Given the description of an element on the screen output the (x, y) to click on. 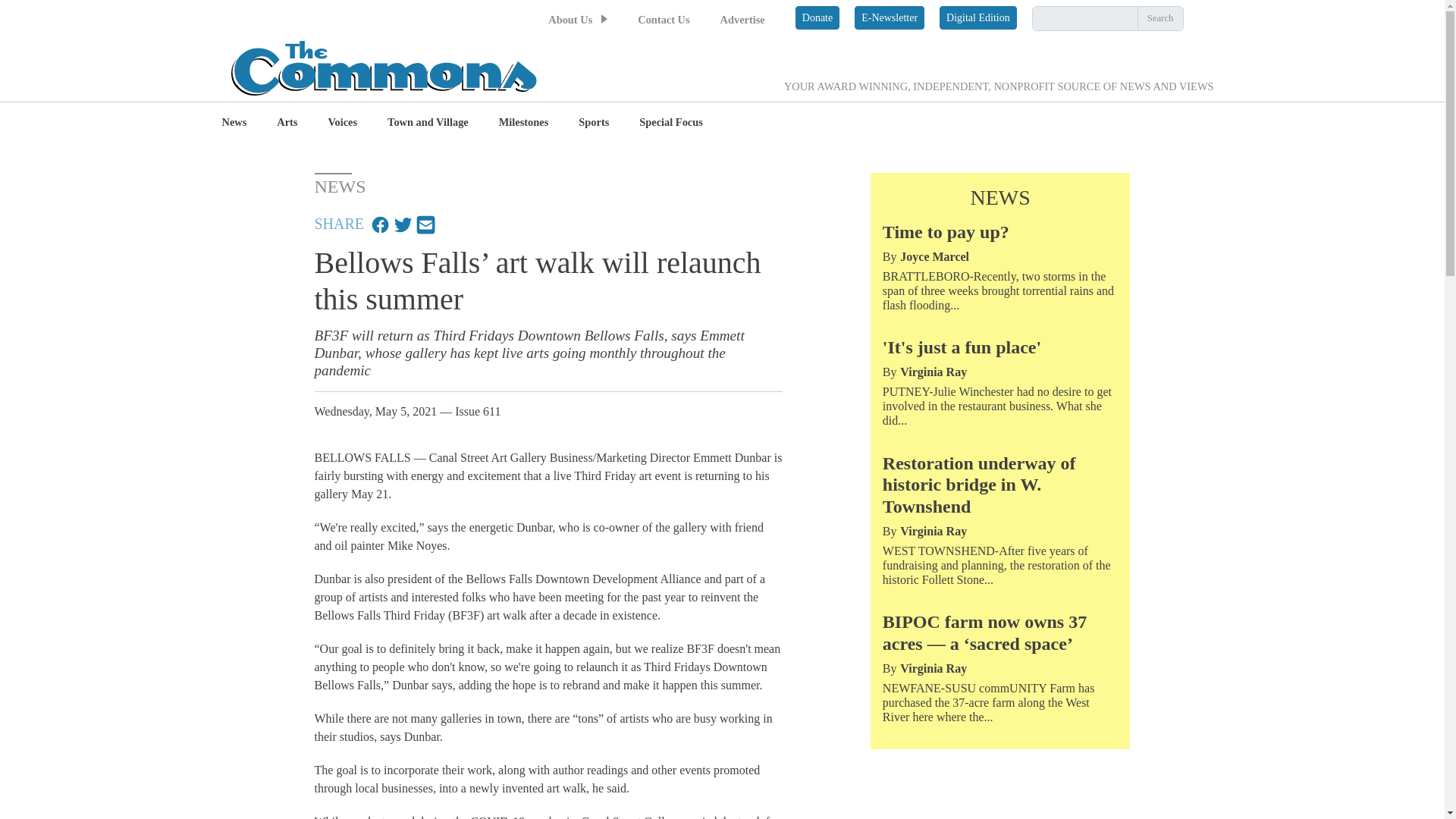
Digital Edition (977, 17)
About Us (570, 20)
Sports (593, 122)
E-Newsletter (889, 17)
Special Focus (671, 122)
Advertise (742, 20)
Contact Us (662, 20)
Milestones (523, 122)
Town and Village (427, 122)
Search (1160, 18)
